Given the description of an element on the screen output the (x, y) to click on. 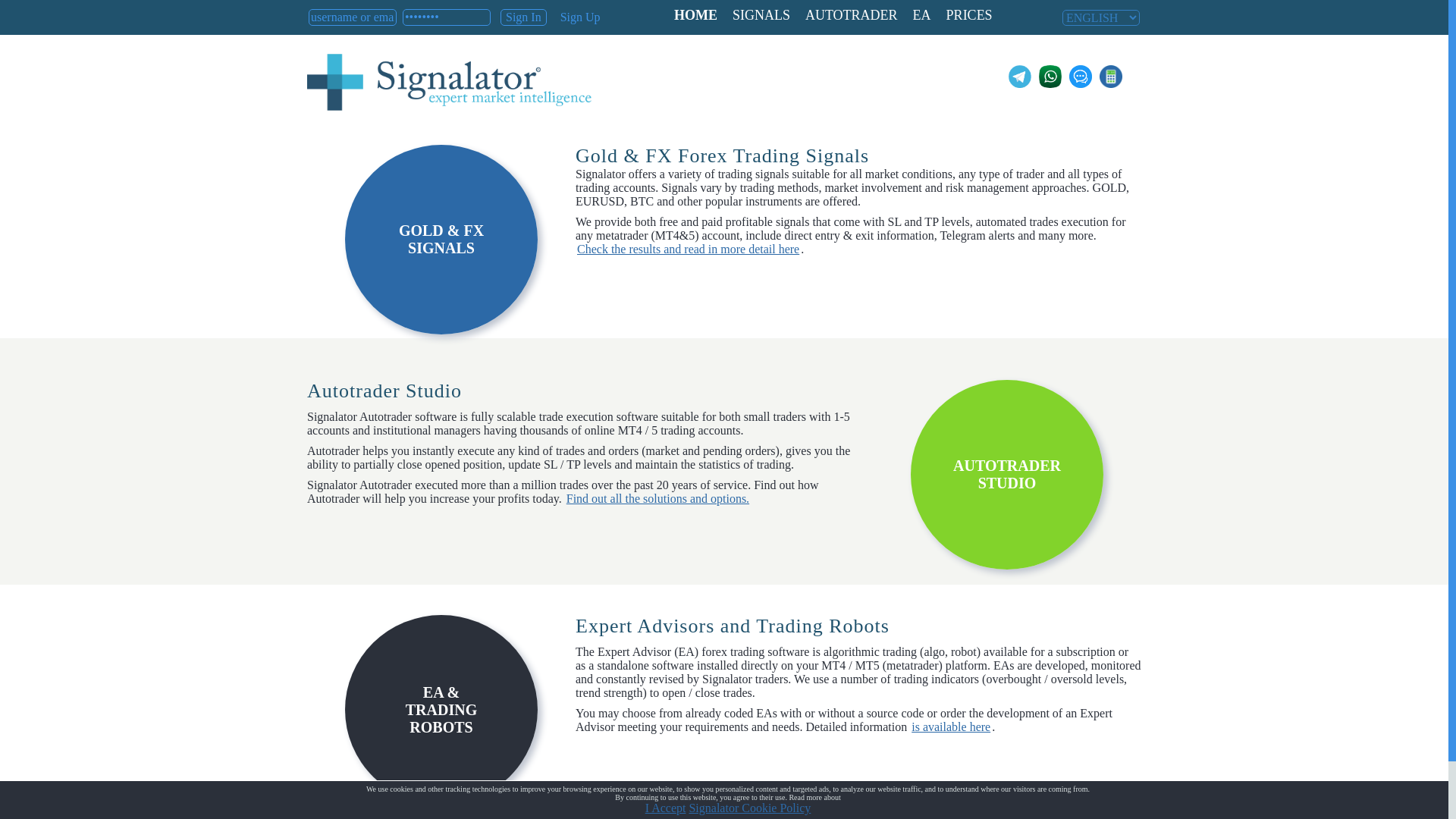
AUTOTRADER (851, 14)
EA (922, 14)
TERMS OF USE (470, 816)
Find out all the solutions and options. (657, 498)
Signalator Cookie Policy (749, 807)
SIGNALS (761, 14)
FX BOOK (332, 816)
Sign Up (579, 16)
AUTOTRADER STUDIO (1007, 474)
CONTACT US (540, 816)
TESTIMONIALS (395, 816)
PRICES (969, 14)
Sign In (523, 17)
password (446, 17)
is available here (950, 726)
